Given the description of an element on the screen output the (x, y) to click on. 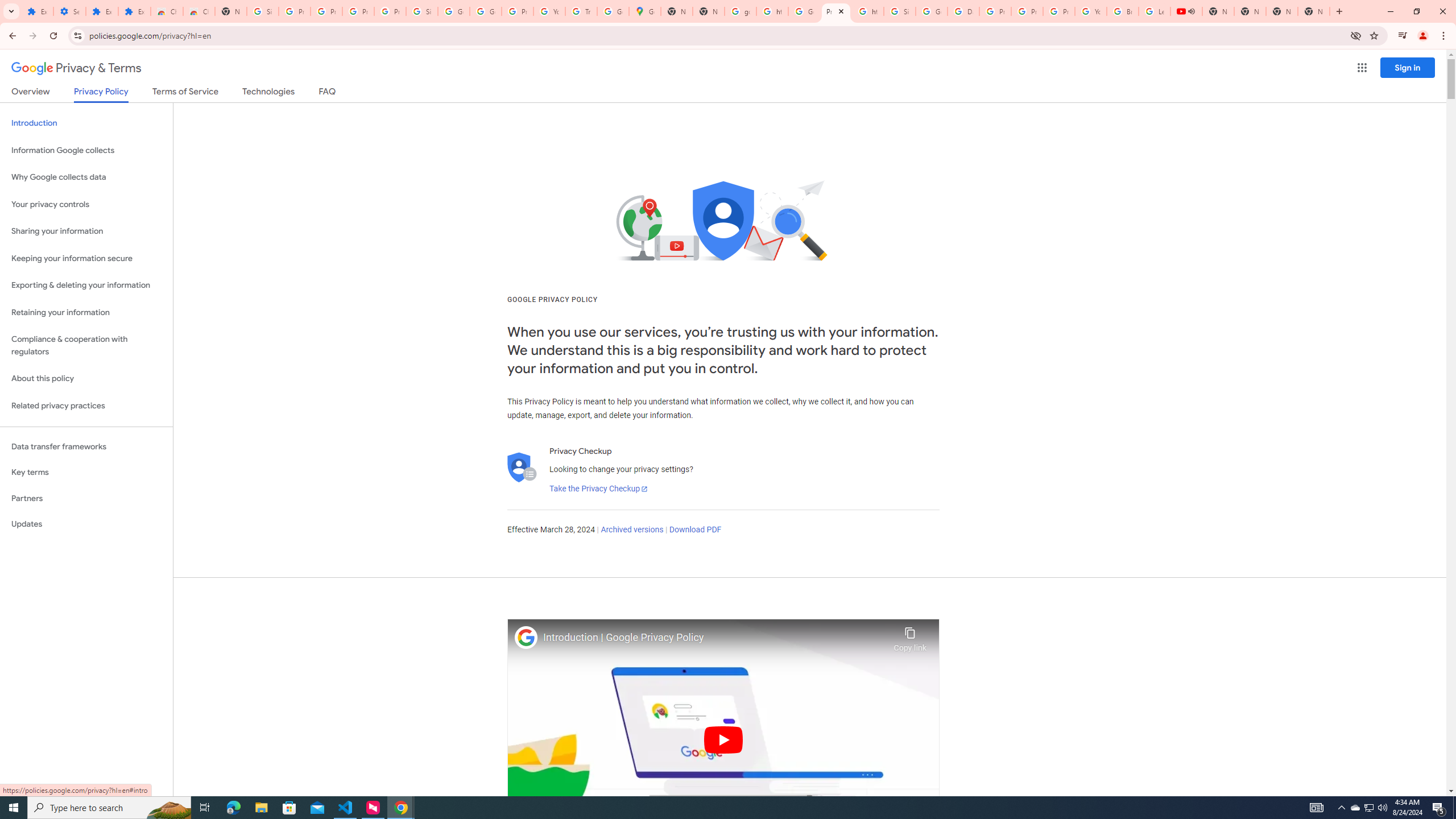
Sign in - Google Accounts (262, 11)
Extensions (101, 11)
Privacy Help Center - Policies Help (995, 11)
Introduction | Google Privacy Policy (715, 637)
Google Maps (644, 11)
